Given the description of an element on the screen output the (x, y) to click on. 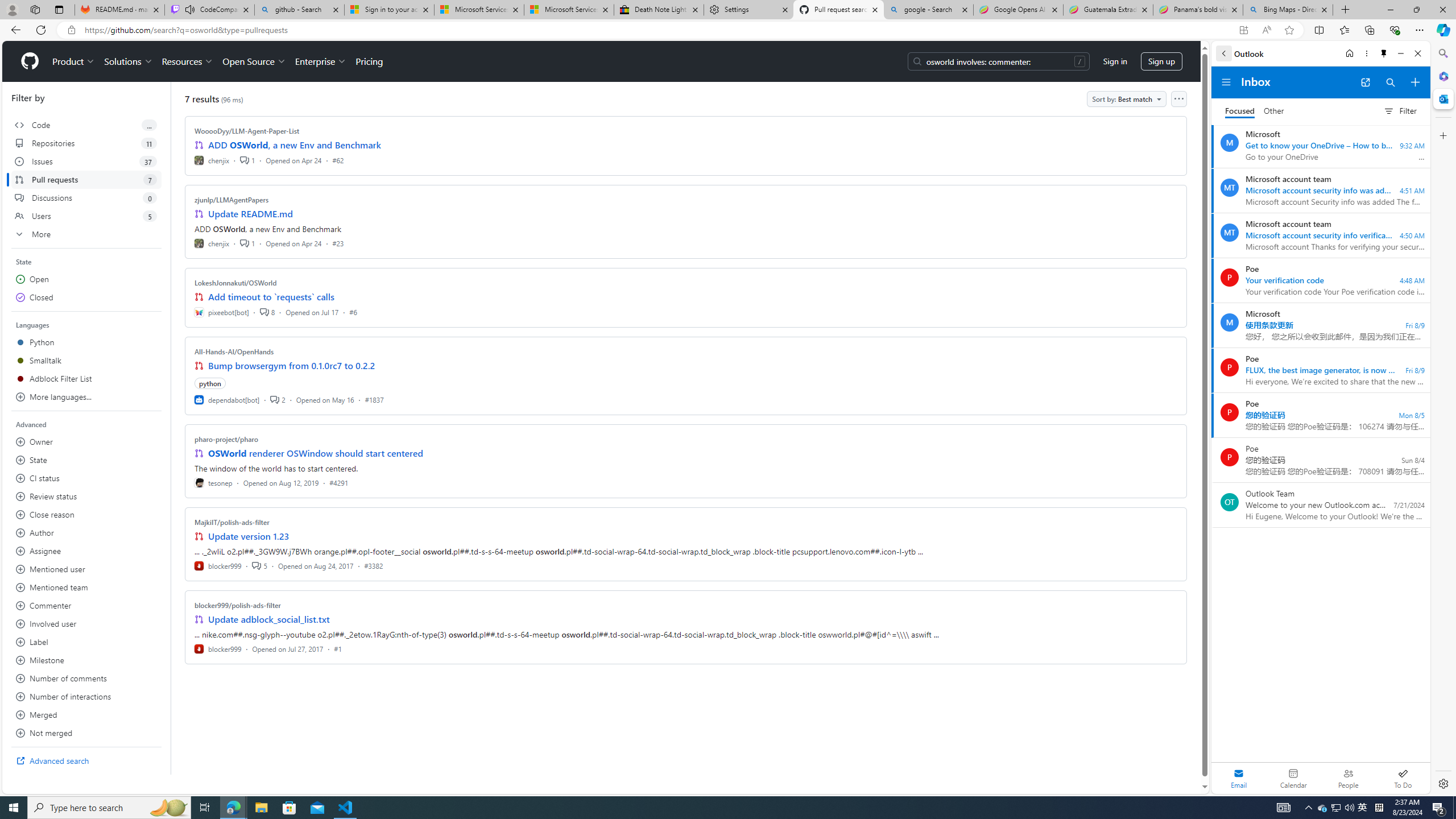
#62 (337, 159)
#1837 (374, 398)
#23 (337, 242)
chenjix (211, 242)
Resources (187, 60)
blocker999 (218, 648)
#6 (352, 311)
2 (277, 398)
Open Source (254, 60)
